Given the description of an element on the screen output the (x, y) to click on. 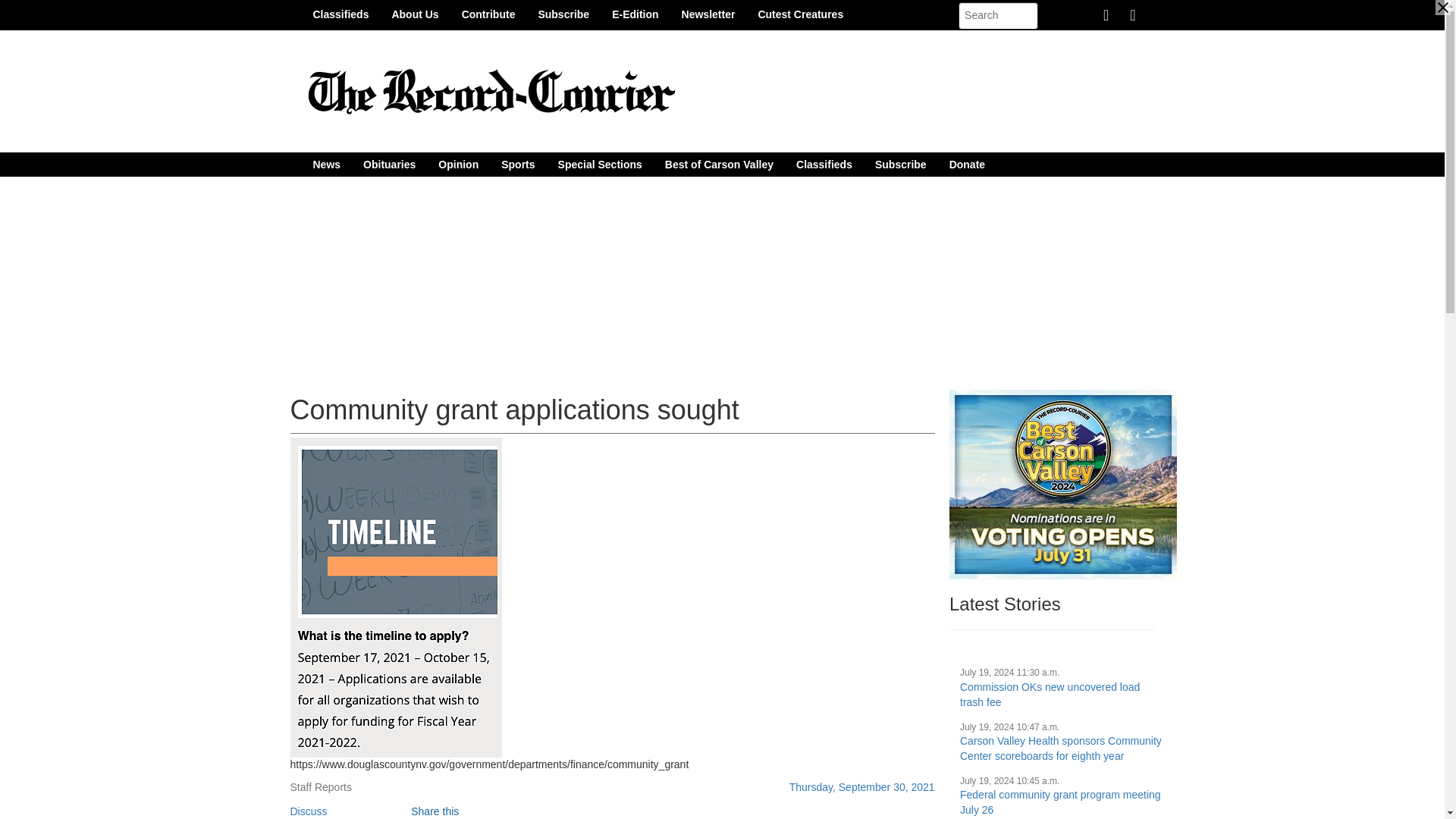
Contribute (488, 14)
Cutest Creatures (799, 14)
About Us (414, 14)
Subscribe (900, 164)
Special Sections (600, 164)
Classifieds (340, 14)
News (326, 164)
Subscribe (562, 14)
Best of Carson Valley (718, 164)
Sports (517, 164)
Classifieds (823, 164)
Obituaries (389, 164)
Newsletter (707, 14)
E-Edition (634, 14)
Opinion (457, 164)
